Given the description of an element on the screen output the (x, y) to click on. 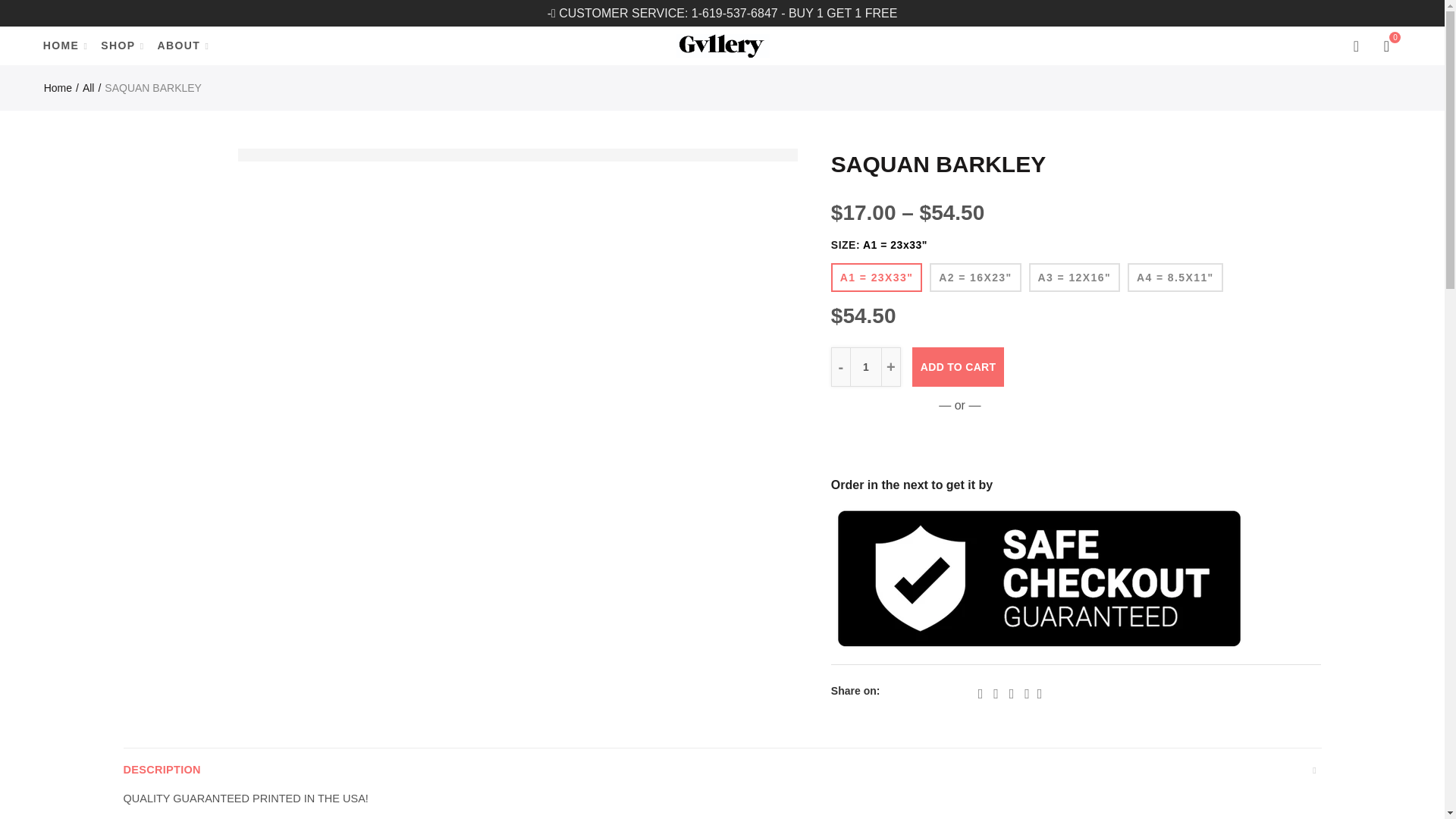
ABOUT (179, 45)
Home (60, 88)
HOME (60, 45)
SHOP (117, 45)
0 (1387, 46)
All (91, 88)
